Given the description of an element on the screen output the (x, y) to click on. 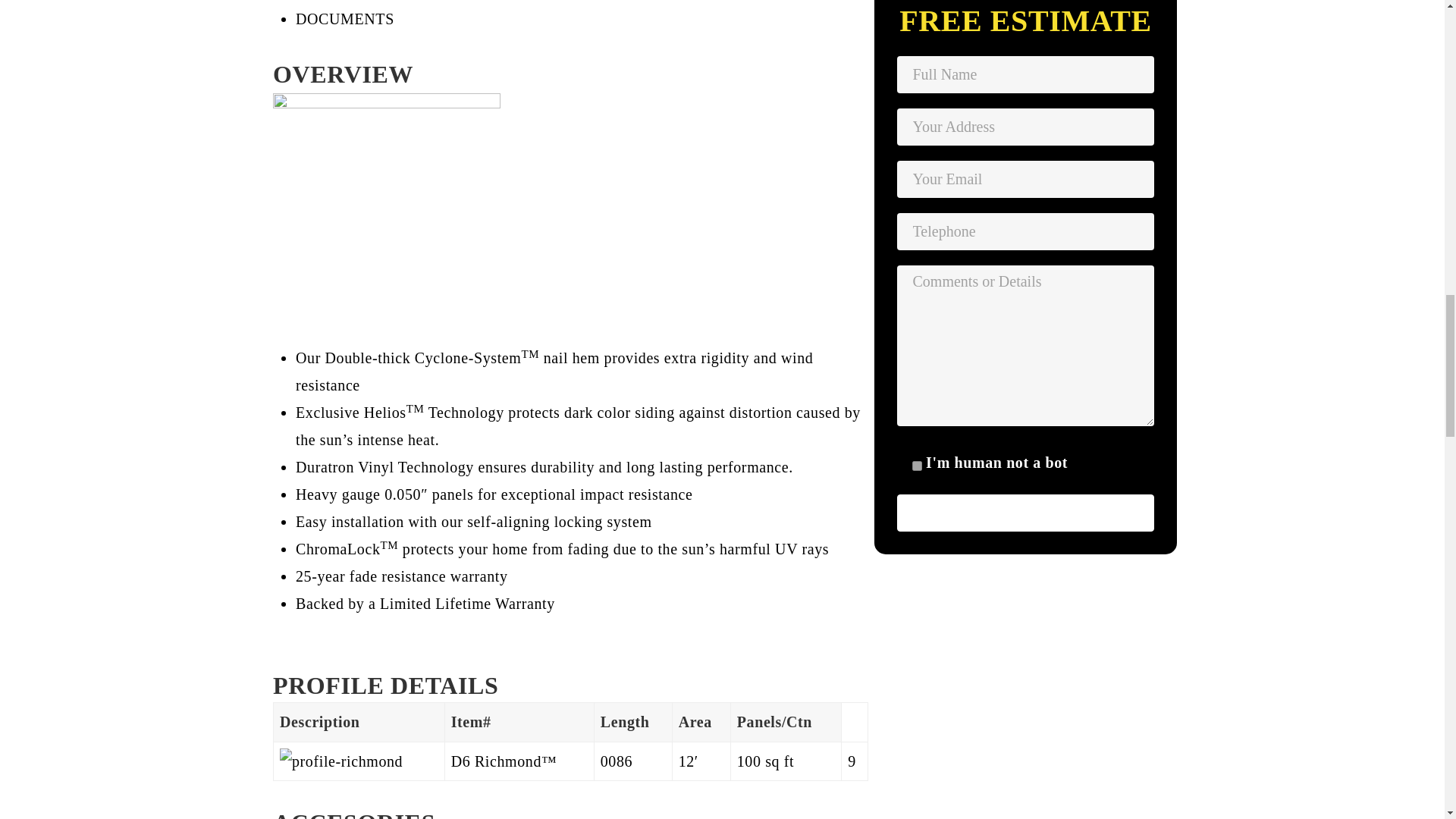
PROFILE DETAILS (385, 685)
ACCESORIES (354, 814)
richmond (386, 203)
1 (916, 465)
DOCUMENTS (344, 18)
REQUEST NOW! (1025, 512)
REQUEST NOW! (1025, 512)
OVERVIEW (343, 73)
